Given the description of an element on the screen output the (x, y) to click on. 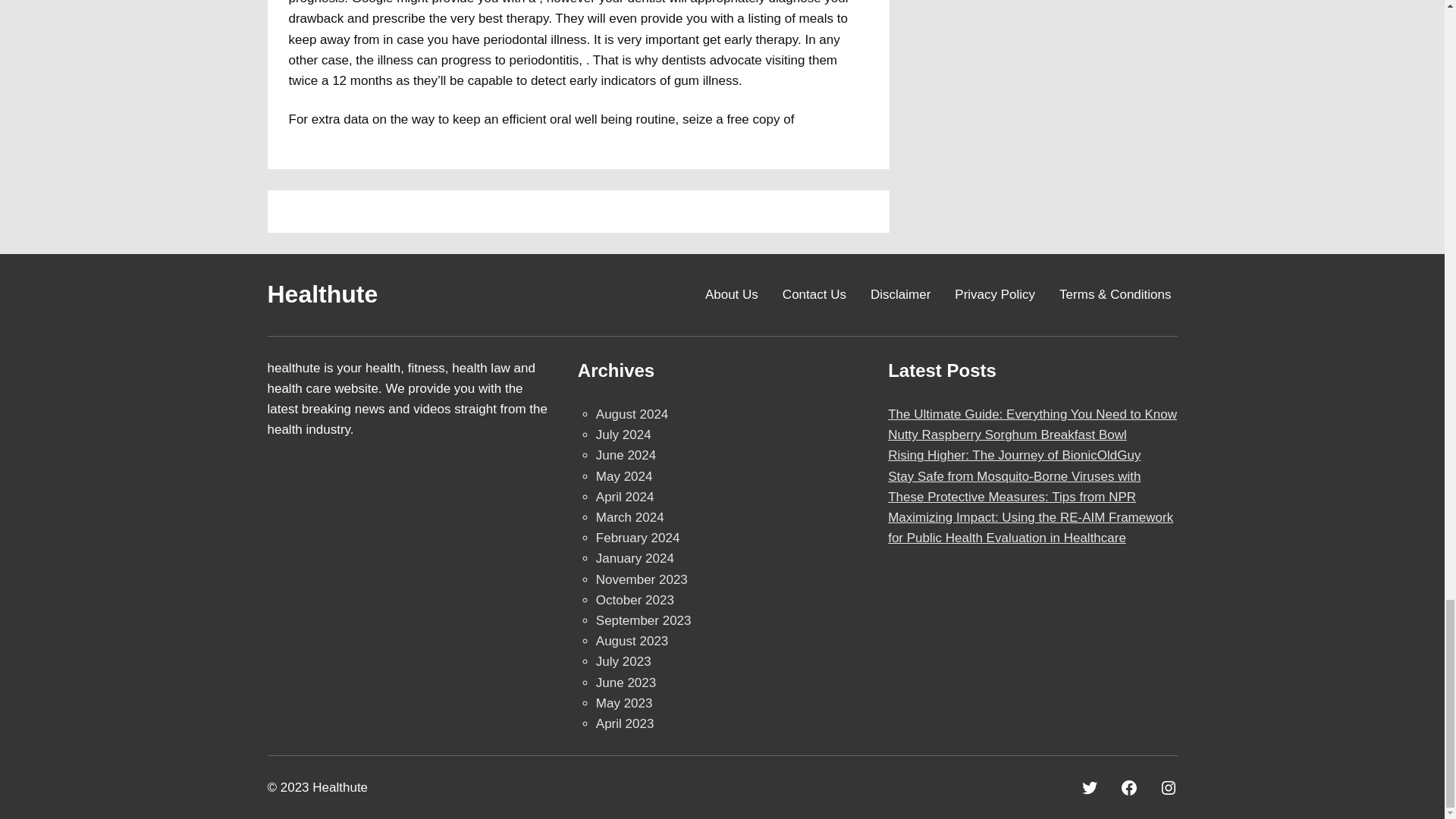
Contact Us (813, 294)
Healthute (321, 293)
Disclaimer (900, 294)
About Us (731, 294)
Privacy Policy (995, 294)
August 2024 (631, 414)
